Given the description of an element on the screen output the (x, y) to click on. 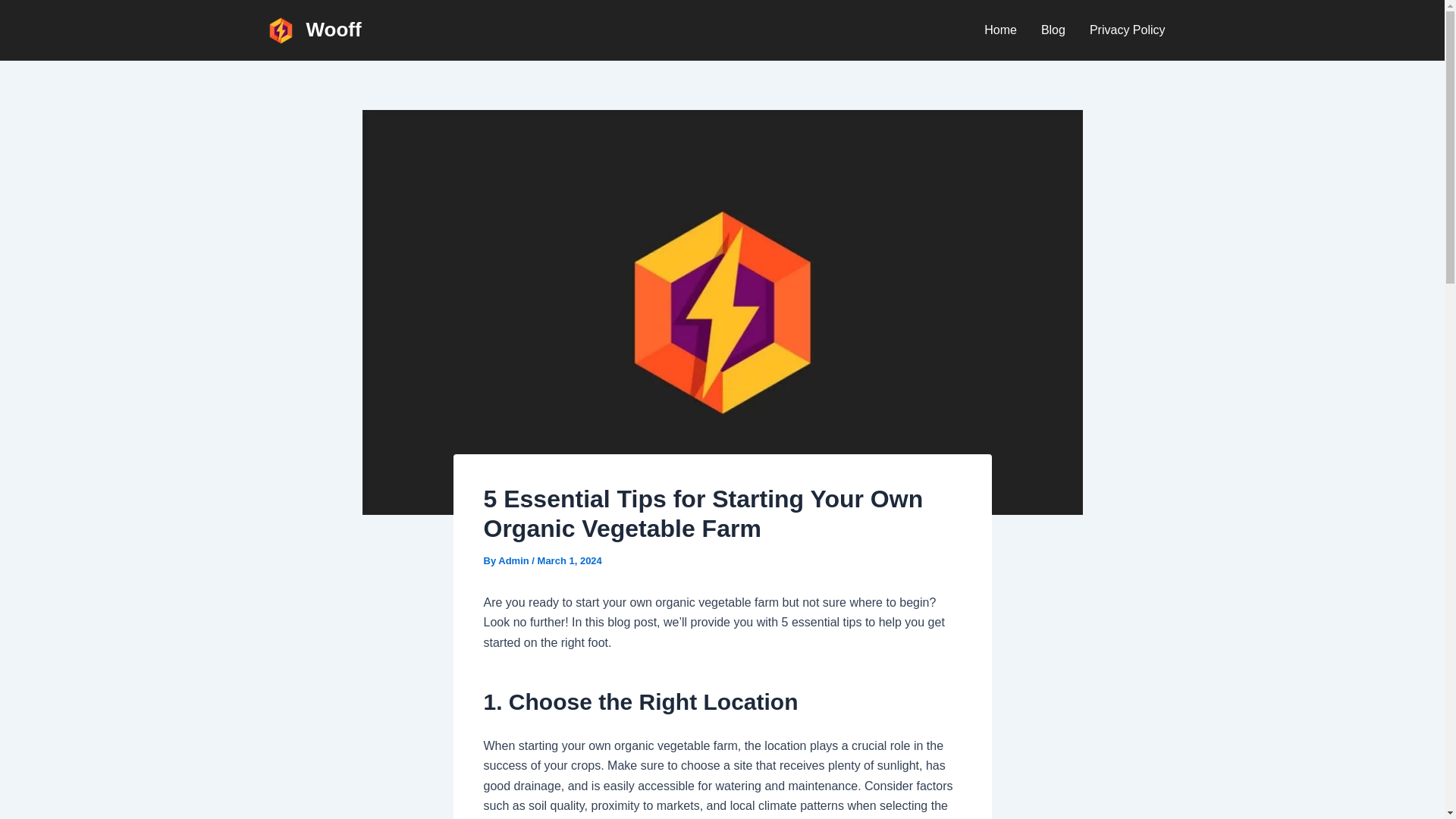
Privacy Policy (1127, 30)
Admin (514, 560)
Blog (1053, 30)
Wooff (333, 29)
Home (1000, 30)
View all posts by Admin (514, 560)
